Given the description of an element on the screen output the (x, y) to click on. 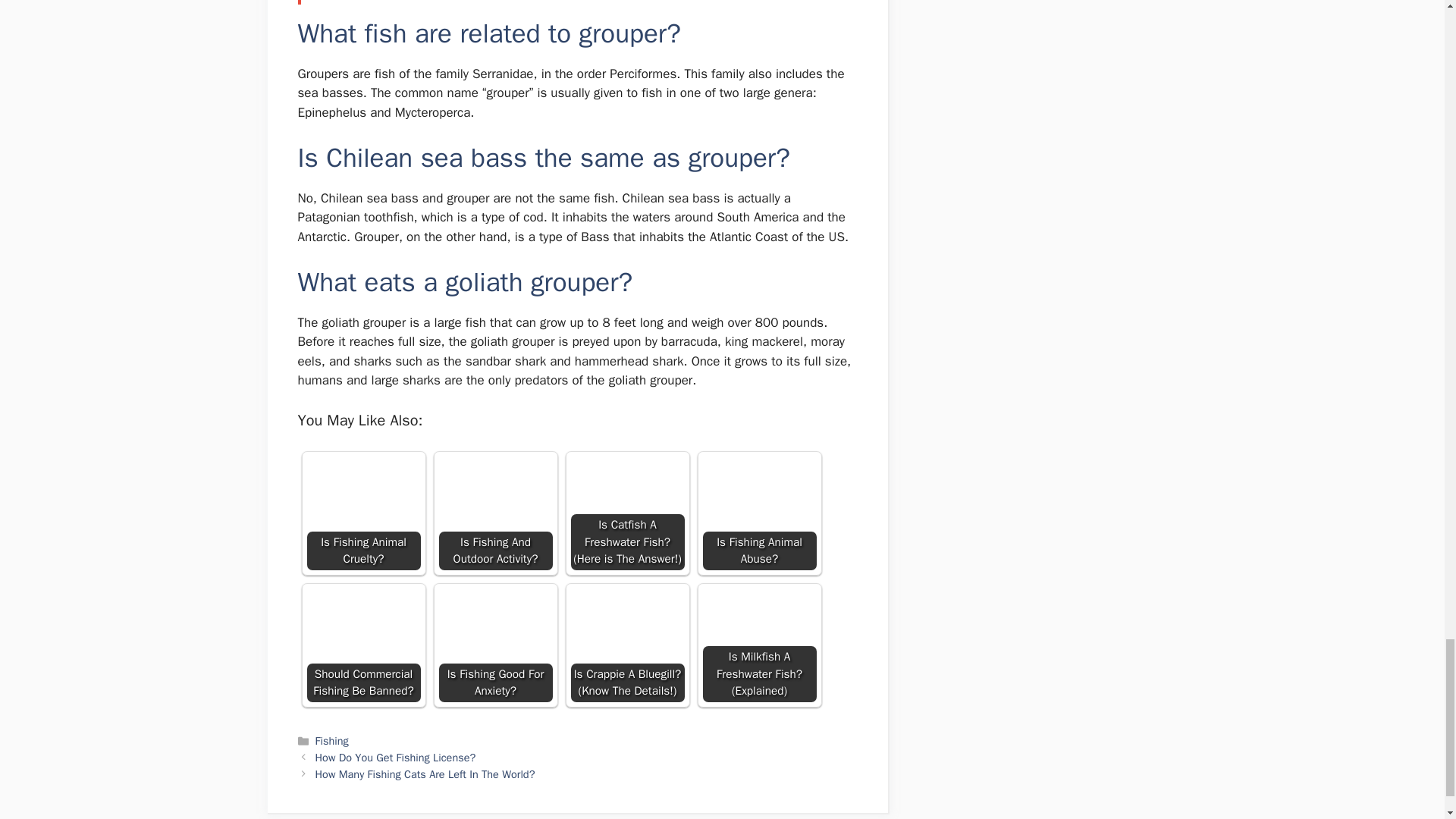
Is Fishing Animal Abuse? (758, 488)
Is Fishing Good For Anxiety? (494, 644)
Is Fishing And Outdoor Activity? (494, 513)
Is Fishing Animal Cruelty? (362, 513)
Should Commercial Fishing Be Banned? (362, 619)
How Many Fishing Cats Are Left In The World? (425, 774)
Is Fishing Animal Abuse? (758, 513)
Should Commercial Fishing Be Banned? (362, 644)
Is Fishing Good For Anxiety? (494, 626)
Fishing (332, 740)
How Do You Get Fishing License? (395, 757)
Is Fishing Animal Cruelty? (362, 490)
Is Fishing And Outdoor Activity? (494, 494)
